Given the description of an element on the screen output the (x, y) to click on. 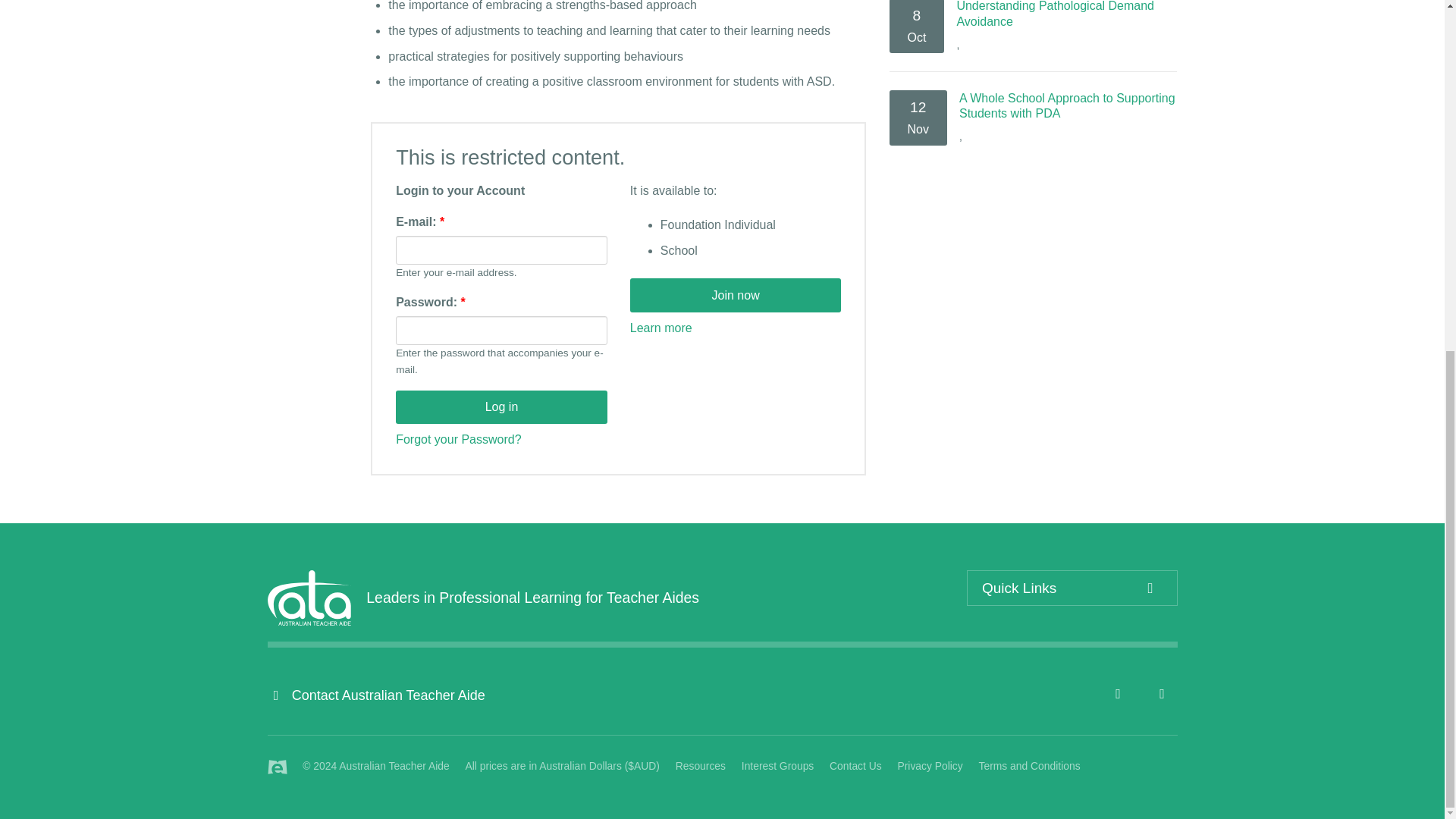
Log in (501, 407)
